Given the description of an element on the screen output the (x, y) to click on. 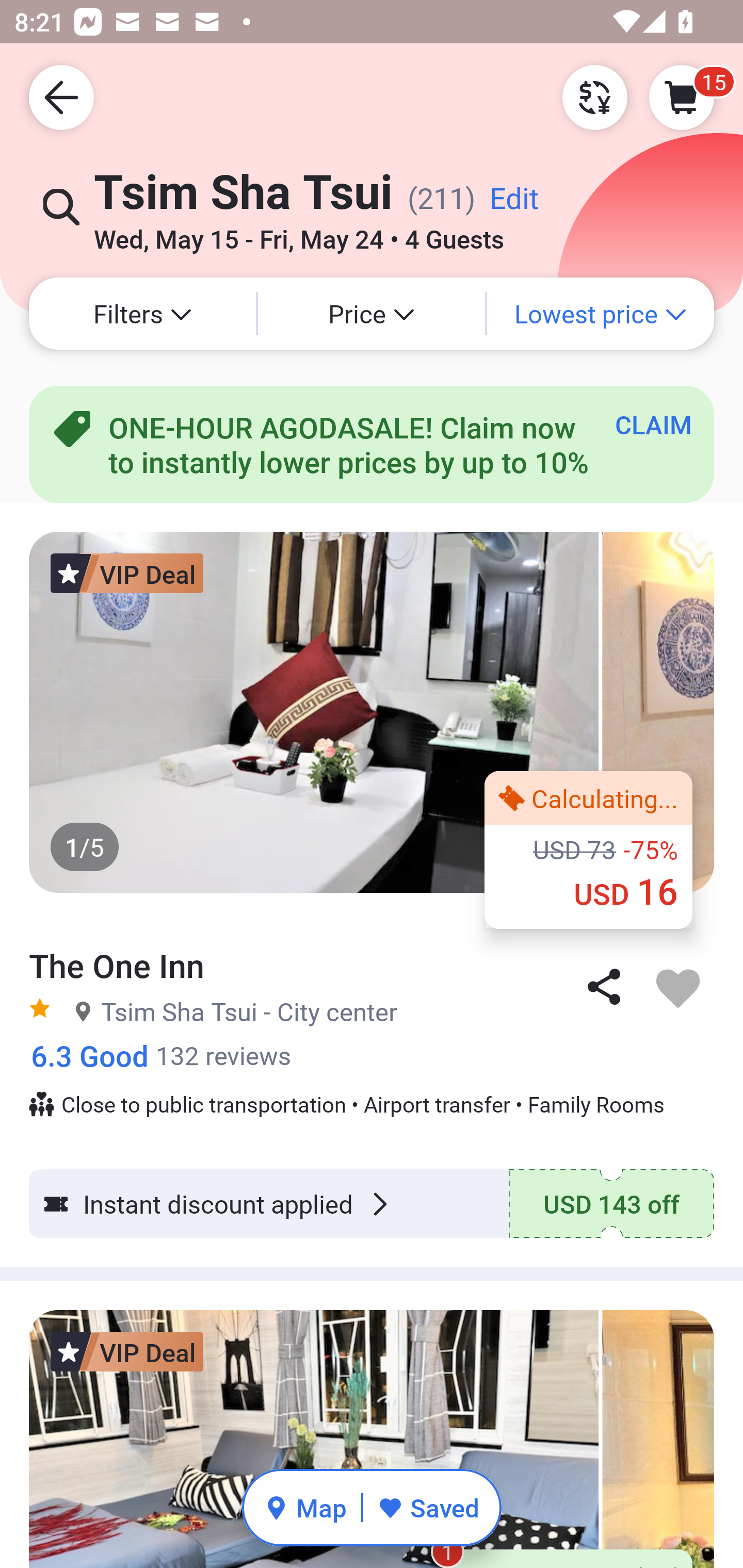
Filters (141, 313)
Price (371, 313)
Lowest price (600, 313)
CLAIM (653, 424)
VIP Deal (126, 572)
1/5 (371, 711)
Calculating... ‪USD 73 -75% ‪USD 16 (588, 849)
Instant discount applied USD 143 off (371, 1203)
VIP Deal (126, 1352)
Map (305, 1507)
Saved (428, 1507)
